Given the description of an element on the screen output the (x, y) to click on. 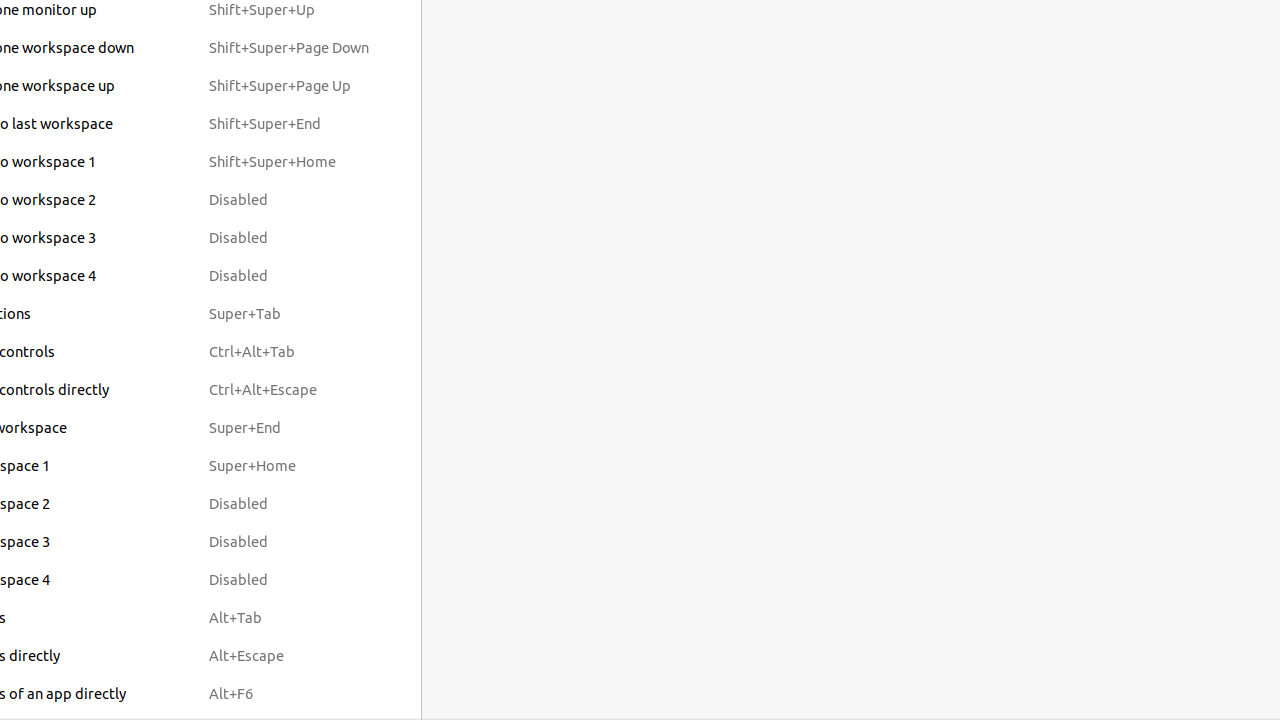
Ctrl+Alt+Escape Element type: label (289, 390)
Shift+Super+Home Element type: label (289, 162)
Shift+Super+Page Up Element type: label (289, 86)
Ctrl+Alt+Tab Element type: label (289, 352)
Shift+Super+Page Down Element type: label (289, 48)
